Given the description of an element on the screen output the (x, y) to click on. 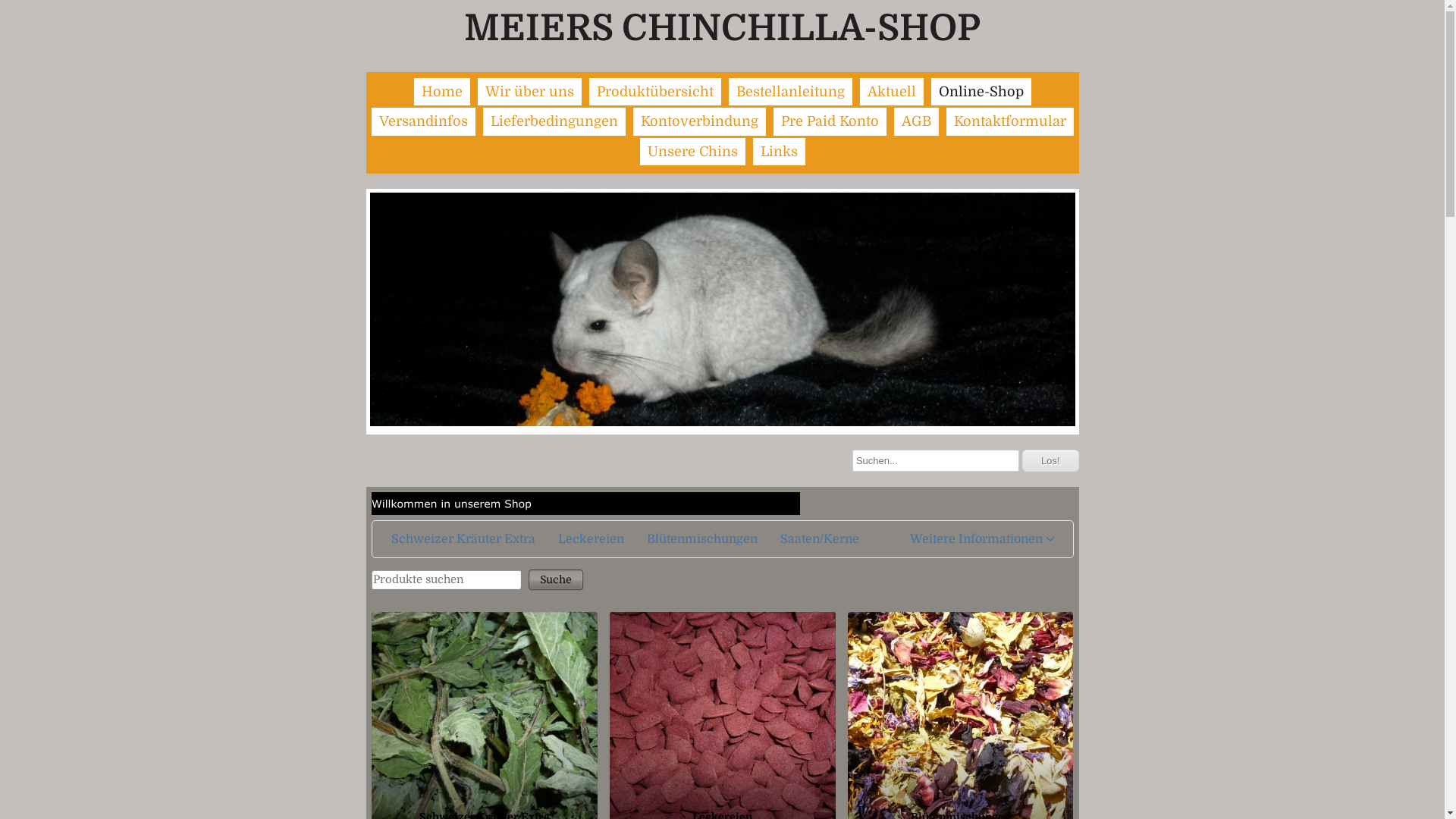
Bestellanleitung Element type: text (789, 91)
MEIERS CHINCHILLA-SHOP Element type: text (721, 28)
Online-Shop Element type: text (981, 91)
AGB Element type: text (915, 120)
Saaten/Kerne Element type: text (819, 538)
Kontaktformular Element type: text (1009, 120)
Kontoverbindung Element type: text (698, 120)
Unsere Chins Element type: text (692, 151)
Leckereien Element type: text (590, 538)
Leckereien Element type: hover (722, 704)
Versandinfos Element type: text (423, 120)
Los! Element type: text (1050, 460)
Weitere Informationen Element type: text (980, 538)
Pre Paid Konto Element type: text (829, 120)
Links Element type: text (778, 151)
Lieferbedingungen Element type: text (553, 120)
Suche Element type: text (555, 579)
Home Element type: text (442, 91)
Aktuell Element type: text (891, 91)
